Given the description of an element on the screen output the (x, y) to click on. 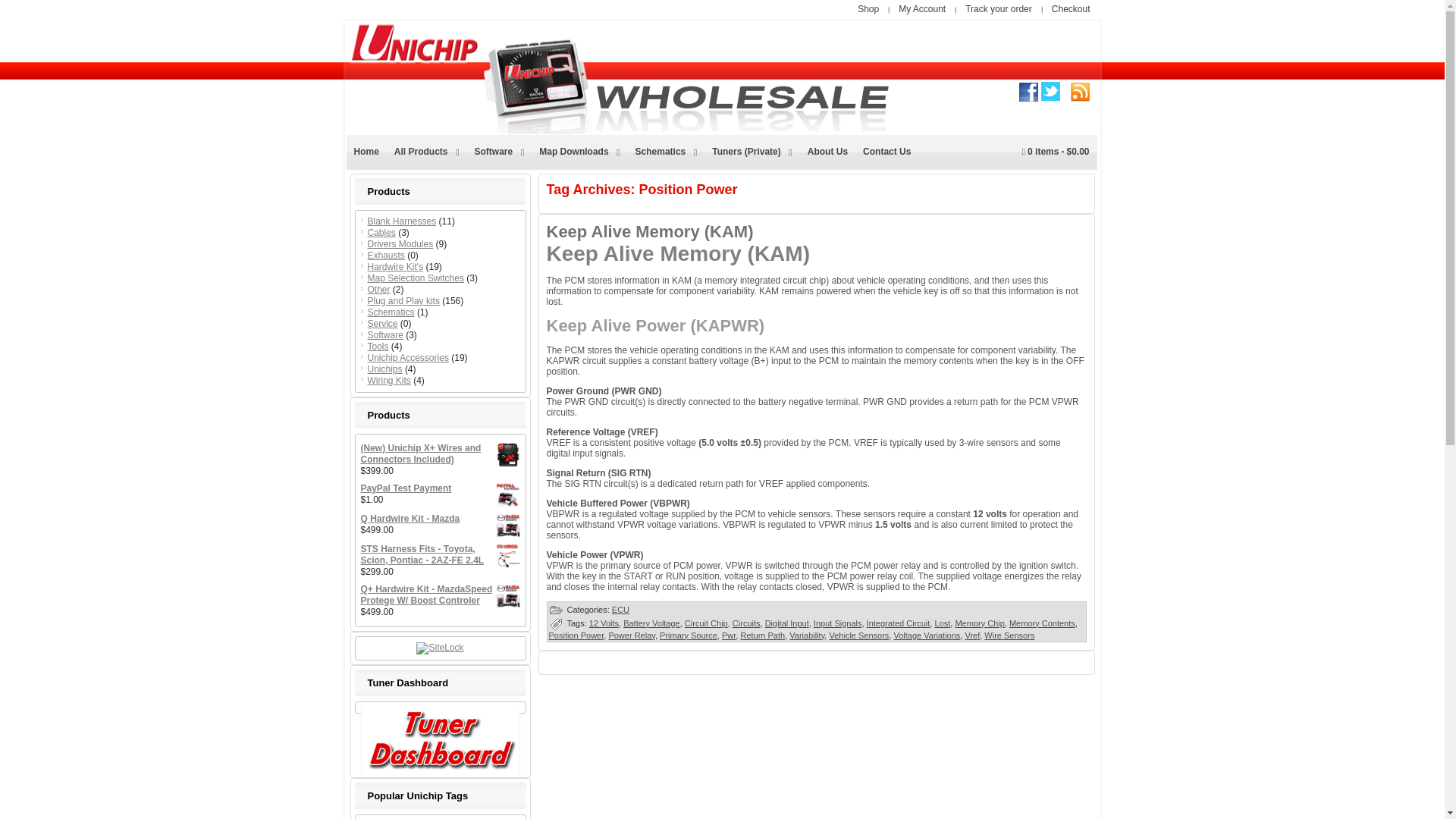
Follow us on Twitter (1050, 90)
Start shopping (1055, 152)
My Account (922, 9)
Memory Chip Tag (979, 623)
Battery Voltage Tag (651, 623)
Circuits Tag (746, 623)
Home (365, 152)
Lost Tag (942, 623)
Input Signals Tag (837, 623)
Digital Input Tag (787, 623)
12 Volts Tag (603, 623)
Memory Contents Tag (1042, 623)
Shop (868, 9)
Track your order (998, 9)
Circuit Chip Tag (706, 623)
